Given the description of an element on the screen output the (x, y) to click on. 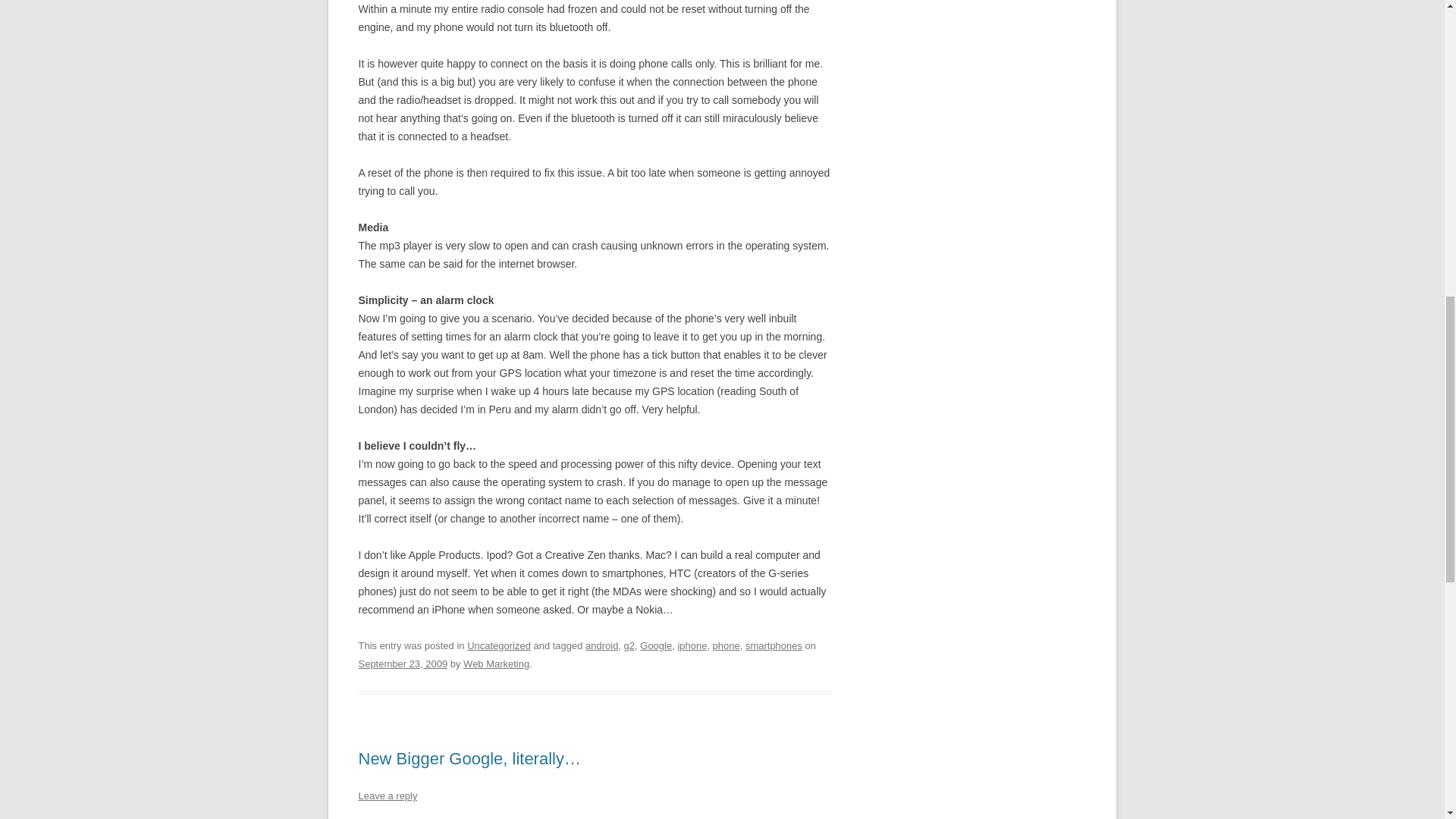
smartphones (773, 645)
g2 (629, 645)
android (601, 645)
2:21 pm (402, 663)
View all posts in Uncategorized (499, 645)
September 23, 2009 (402, 663)
Web Marketing (496, 663)
View all posts by Web Marketing (496, 663)
Google (655, 645)
iphone (691, 645)
phone (726, 645)
Uncategorized (499, 645)
Leave a reply (387, 795)
